Given the description of an element on the screen output the (x, y) to click on. 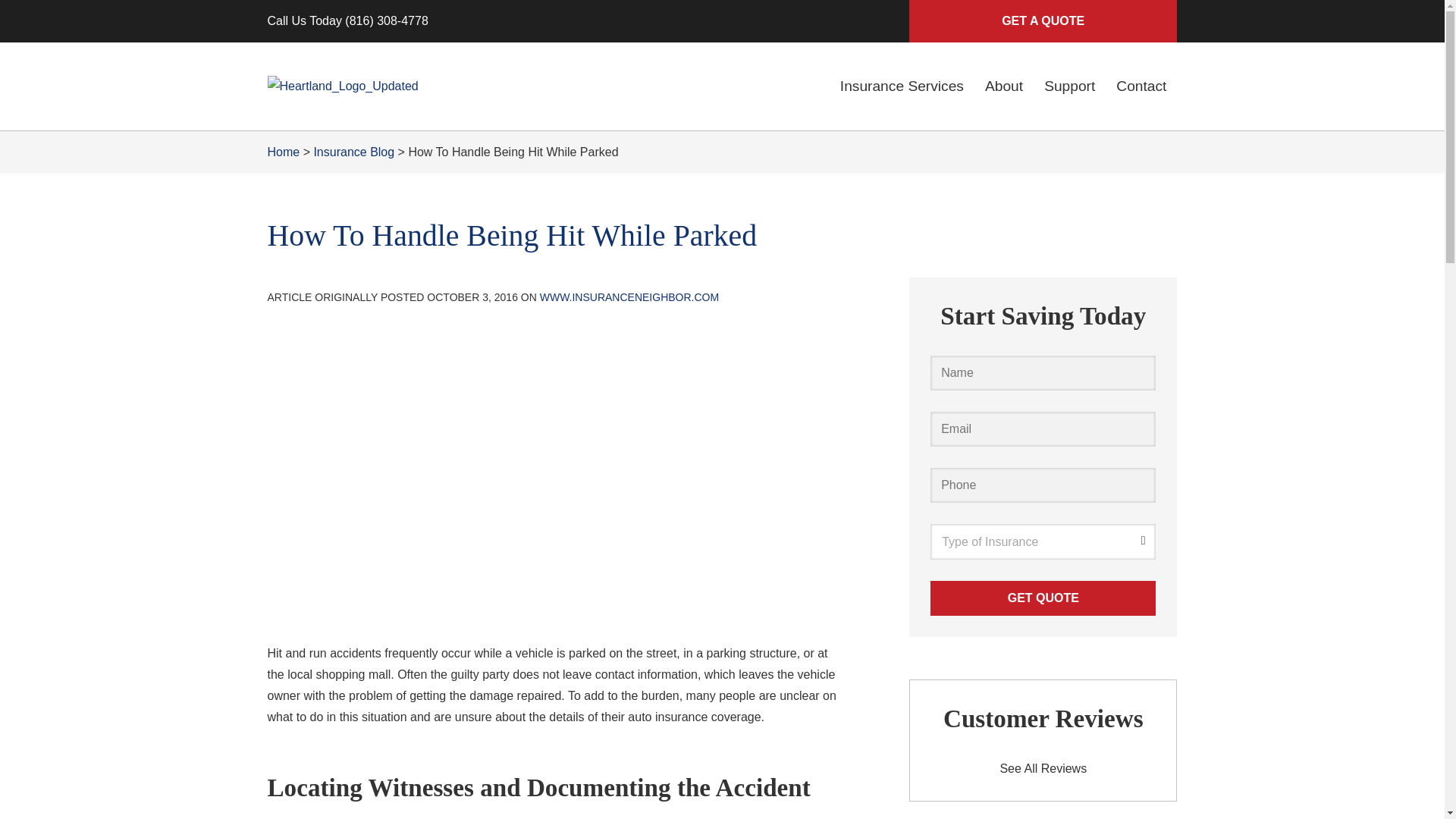
GET A QUOTE (1042, 21)
Get Quote (1043, 597)
Insurance Services (901, 85)
